Given the description of an element on the screen output the (x, y) to click on. 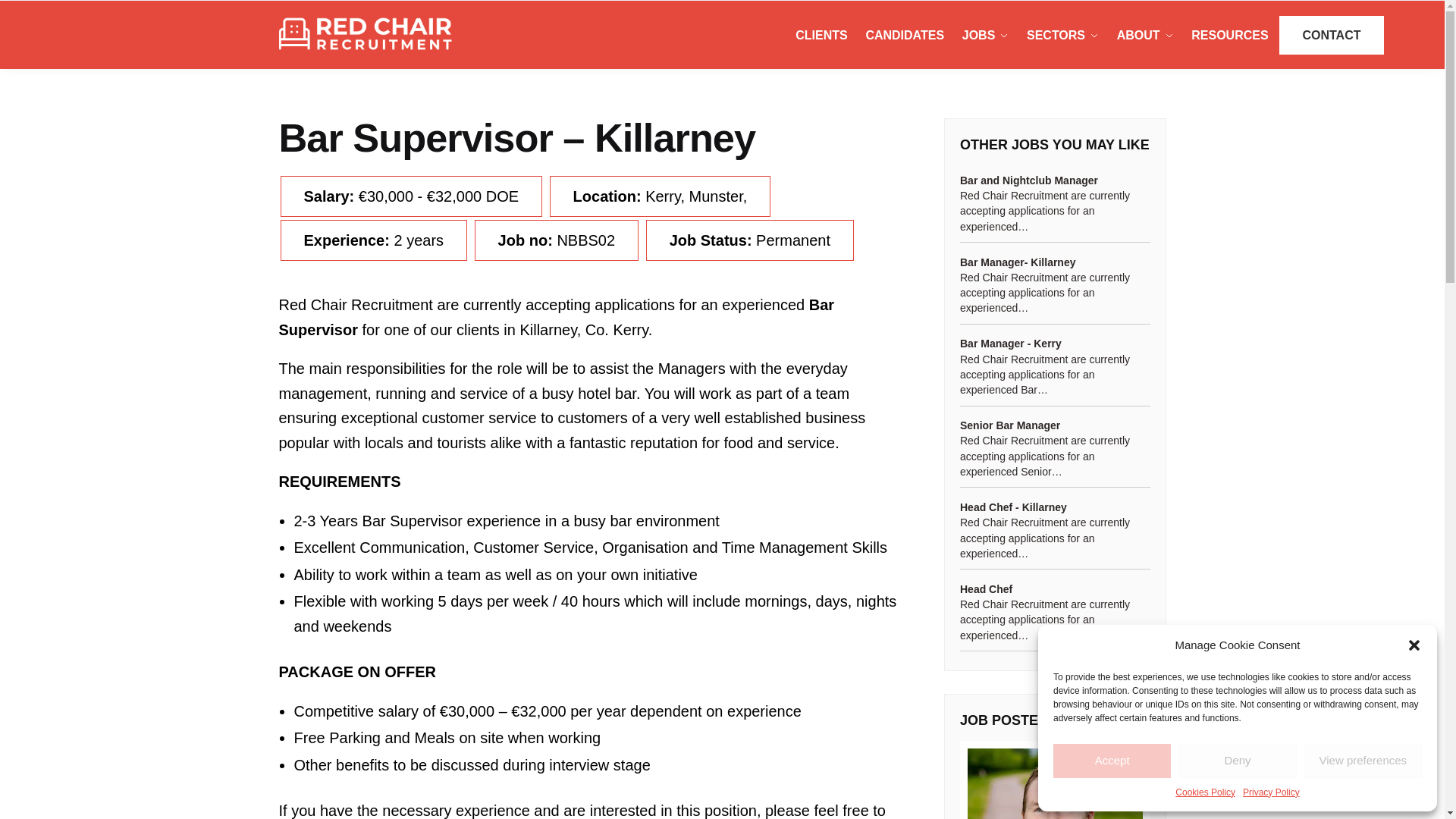
ABOUT (1144, 35)
Privacy Policy (1271, 792)
Accept (1111, 760)
View preferences (1363, 760)
Deny (1236, 760)
SECTORS (1062, 35)
CLIENTS (823, 35)
Cookies Policy (1204, 792)
RESOURCES (1230, 35)
JOBS (984, 35)
